Given the description of an element on the screen output the (x, y) to click on. 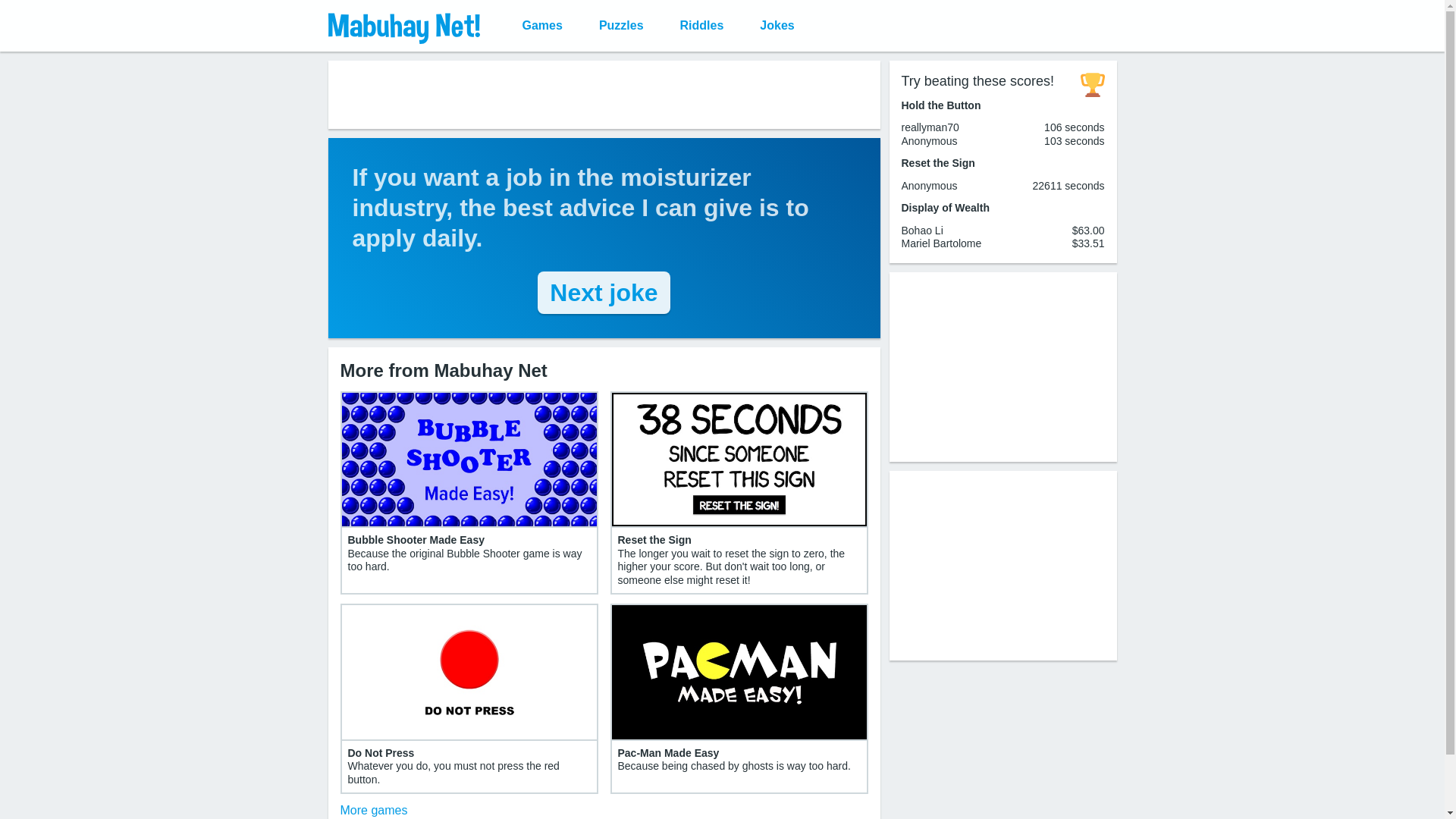
Hold the Button (940, 104)
Bubble Shooter Made Easy (415, 539)
Puzzles (621, 25)
Pac-Man Made Easy (668, 752)
Riddles (702, 25)
Do Not Press (380, 752)
Advertisement (1002, 366)
Advertisement (603, 94)
Reset the Sign (653, 539)
Games (541, 25)
